Given the description of an element on the screen output the (x, y) to click on. 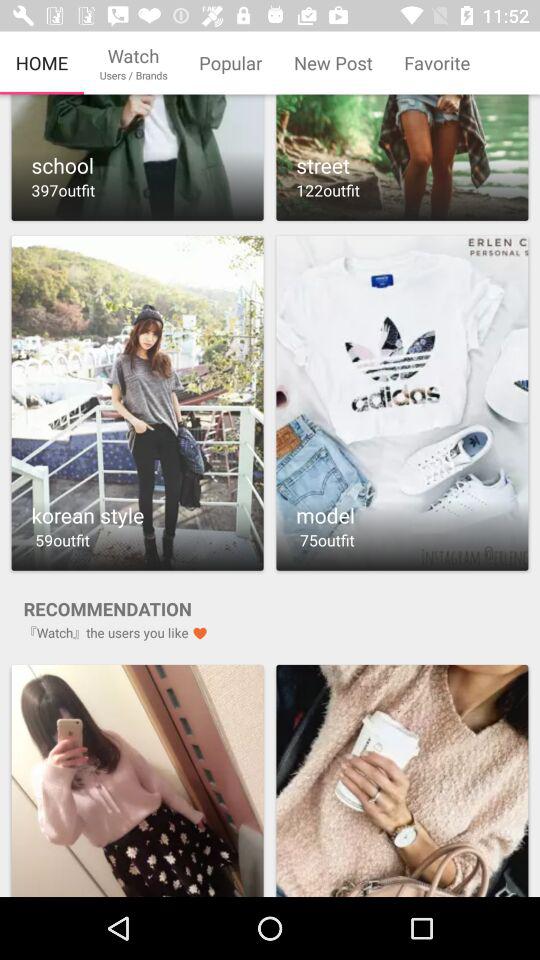
view photo (137, 780)
